Given the description of an element on the screen output the (x, y) to click on. 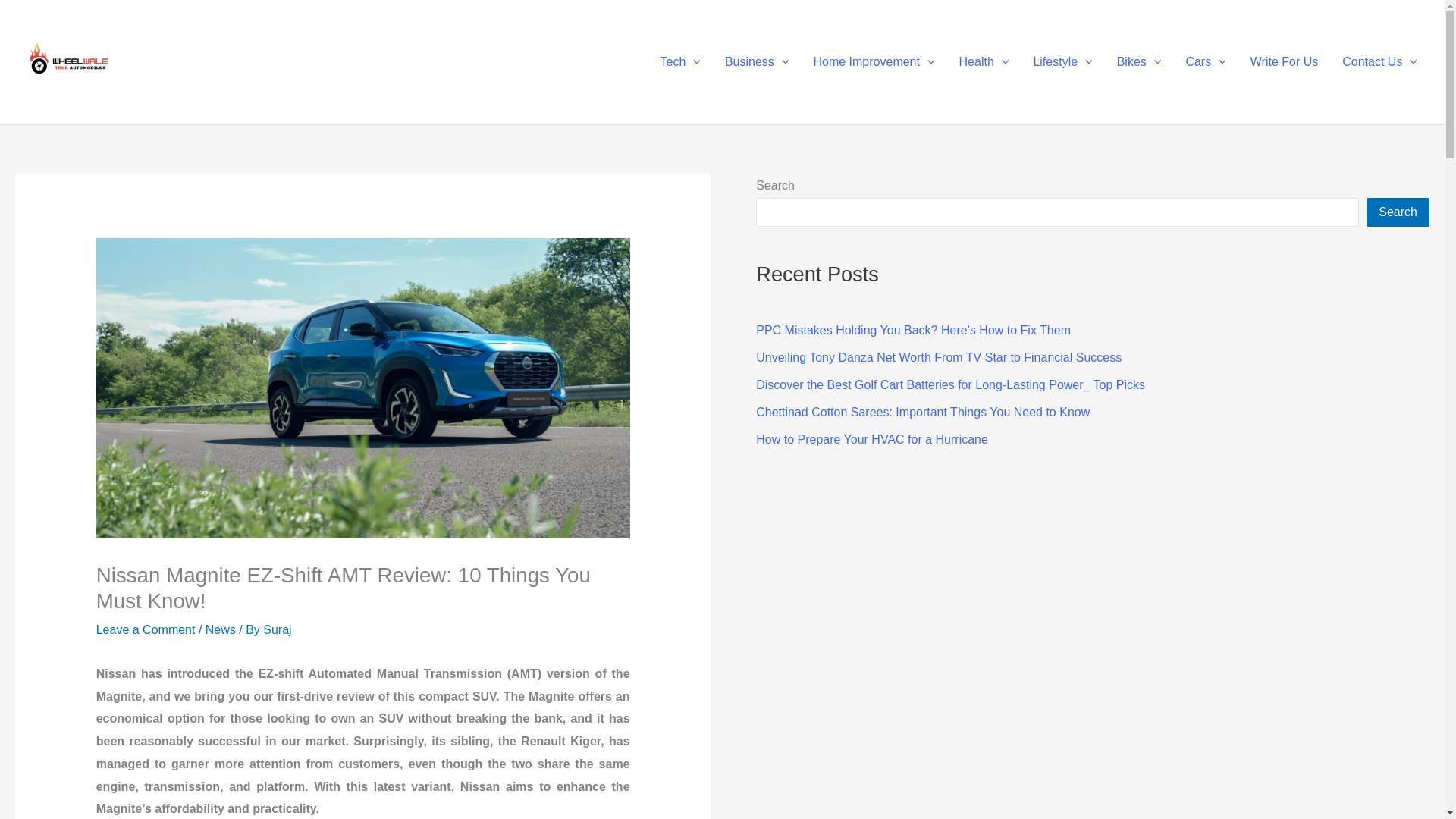
View all posts by Suraj (277, 629)
Lifestyle (1061, 61)
Health (984, 61)
Tech (680, 61)
Home Improvement (873, 61)
Business (757, 61)
